Given the description of an element on the screen output the (x, y) to click on. 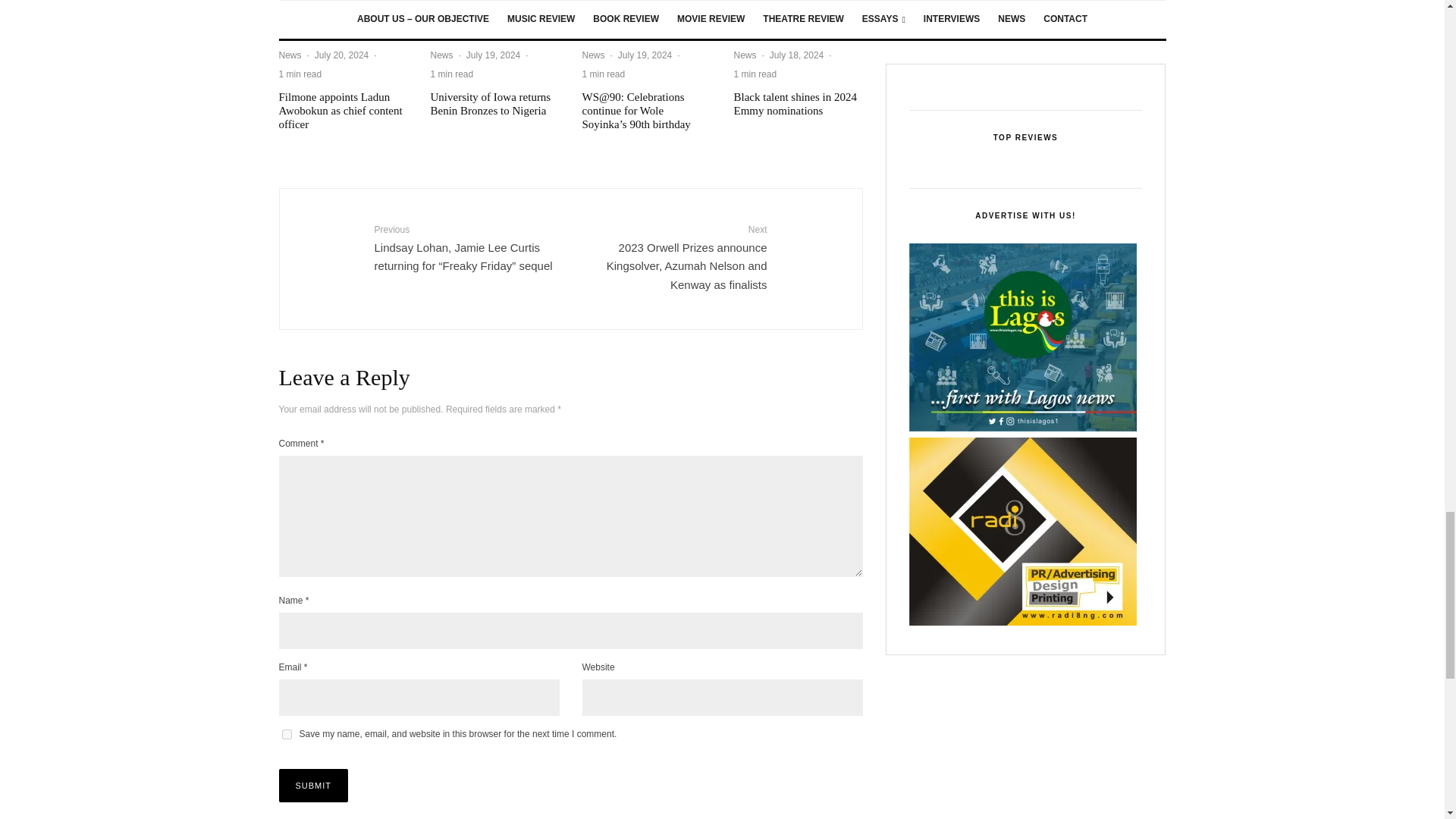
yes (287, 734)
Submit (314, 785)
